Given the description of an element on the screen output the (x, y) to click on. 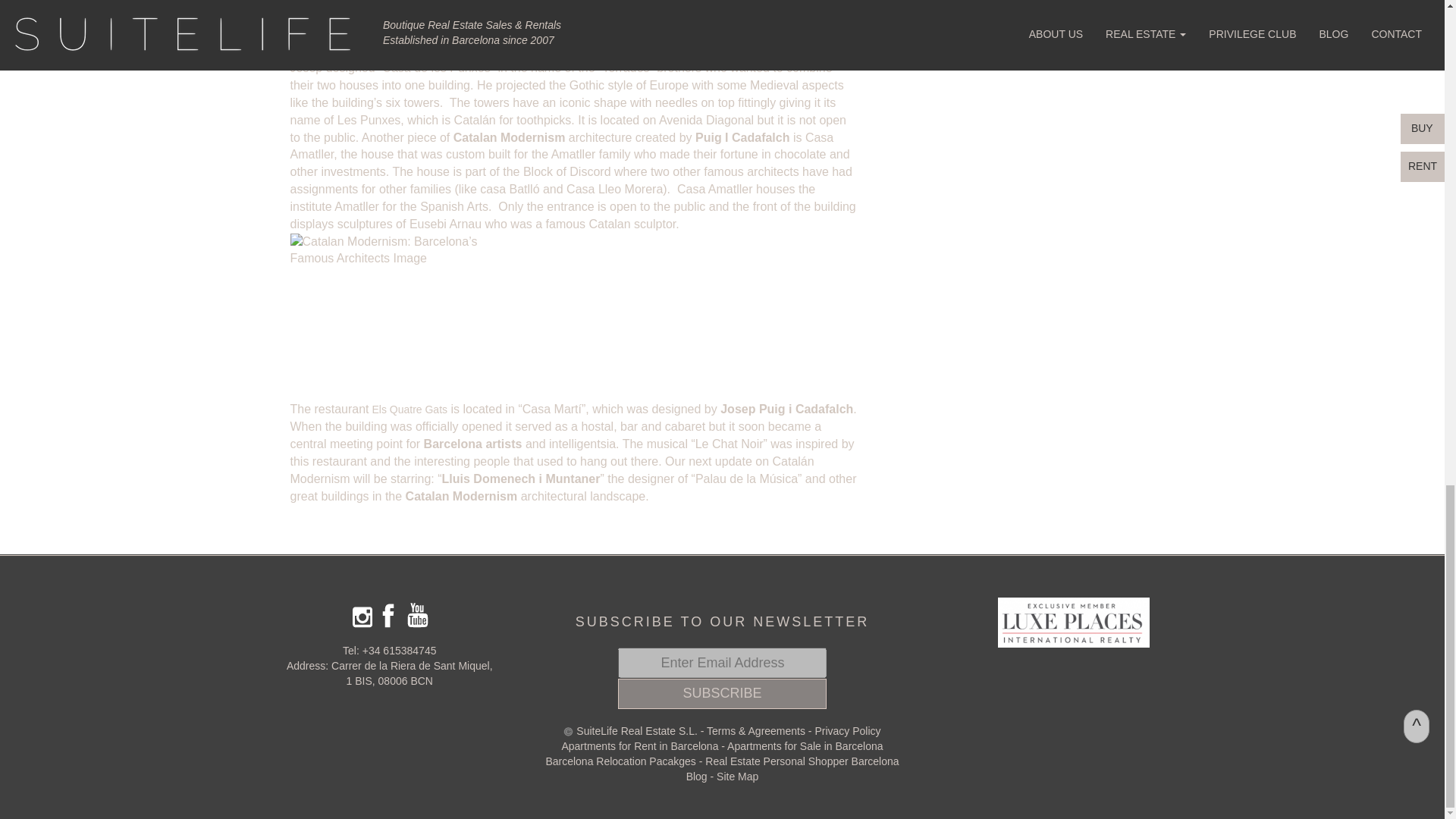
Barcelona Relocation Pacakges (619, 761)
Site Map (737, 776)
Apartments for Sale in Barcelona (804, 746)
SUBSCRIBE (722, 693)
Privacy Policy (846, 730)
Blog (696, 776)
Apartments for Rent in Barcelona (640, 746)
Real Estate Personal Shopper Barcelona (801, 761)
Catalan modernism Famous Catalan restaurant Els Quatre Gats (407, 409)
Els Quatre Gats (407, 409)
SuiteLife Real Estate S.L. (636, 730)
